Given the description of an element on the screen output the (x, y) to click on. 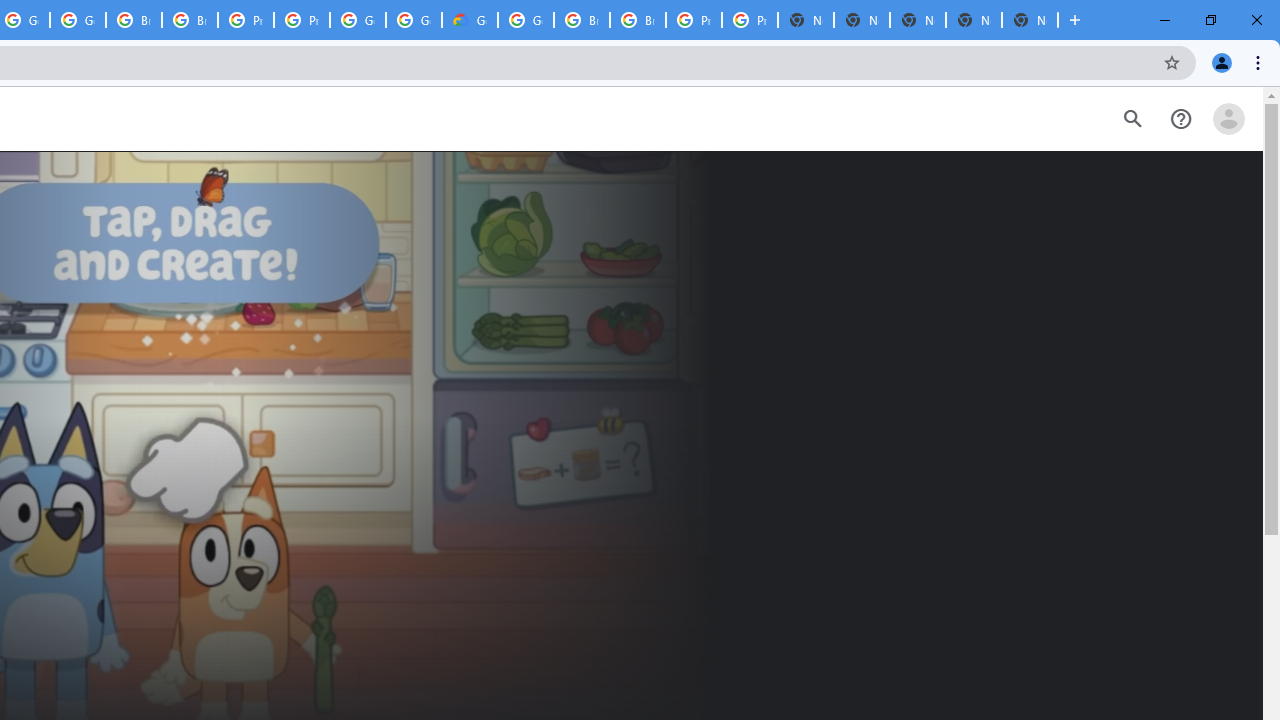
Open account menu (1228, 119)
Browse Chrome as a guest - Computer - Google Chrome Help (134, 20)
Google Cloud Estimate Summary (469, 20)
Help Center (1180, 119)
Google Cloud Platform (413, 20)
Google Cloud Platform (525, 20)
New Tab (1030, 20)
